Given the description of an element on the screen output the (x, y) to click on. 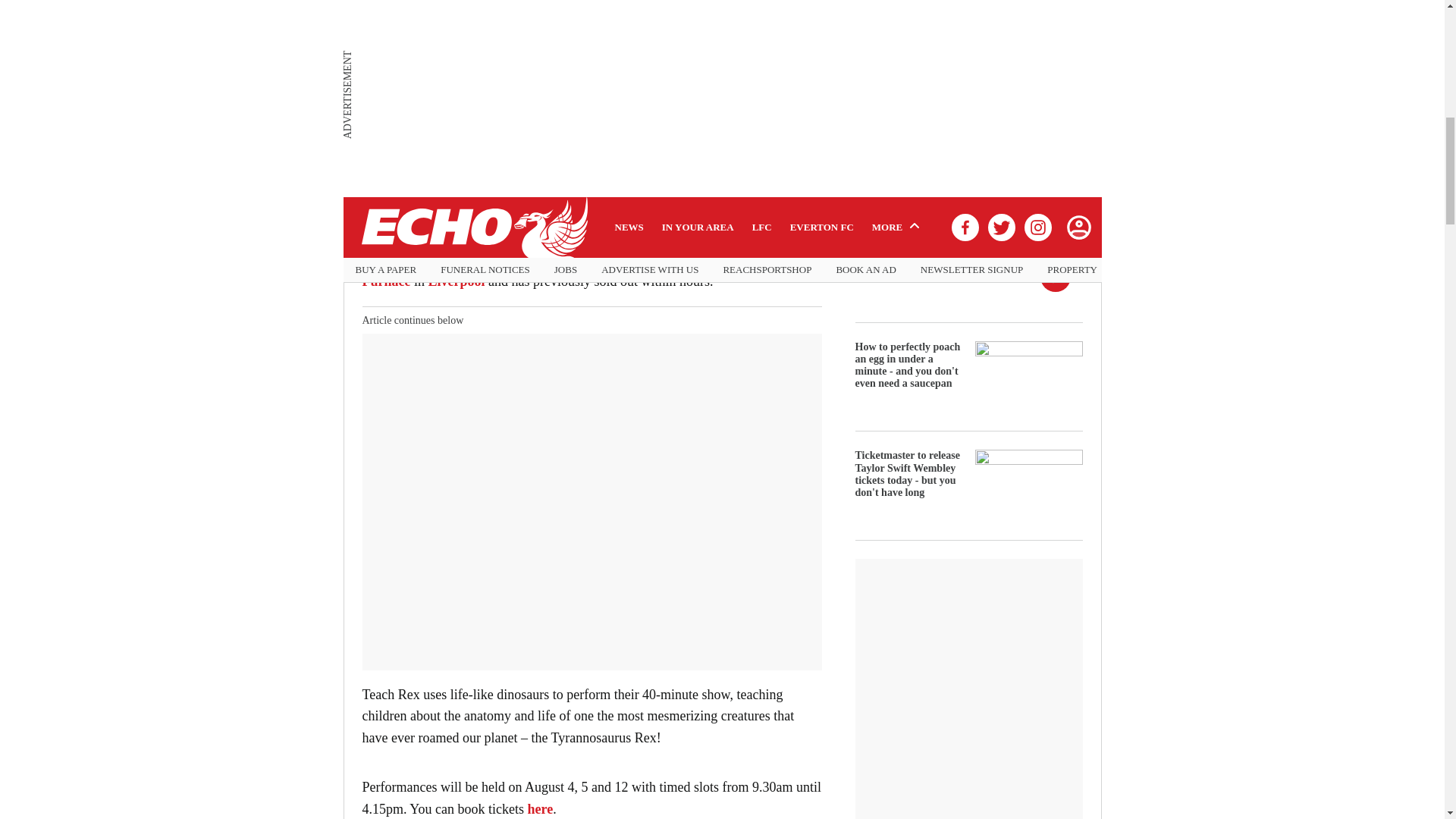
here (540, 808)
Teach Rex (552, 258)
Liverpool (456, 281)
Camp and Furnace (574, 270)
